Given the description of an element on the screen output the (x, y) to click on. 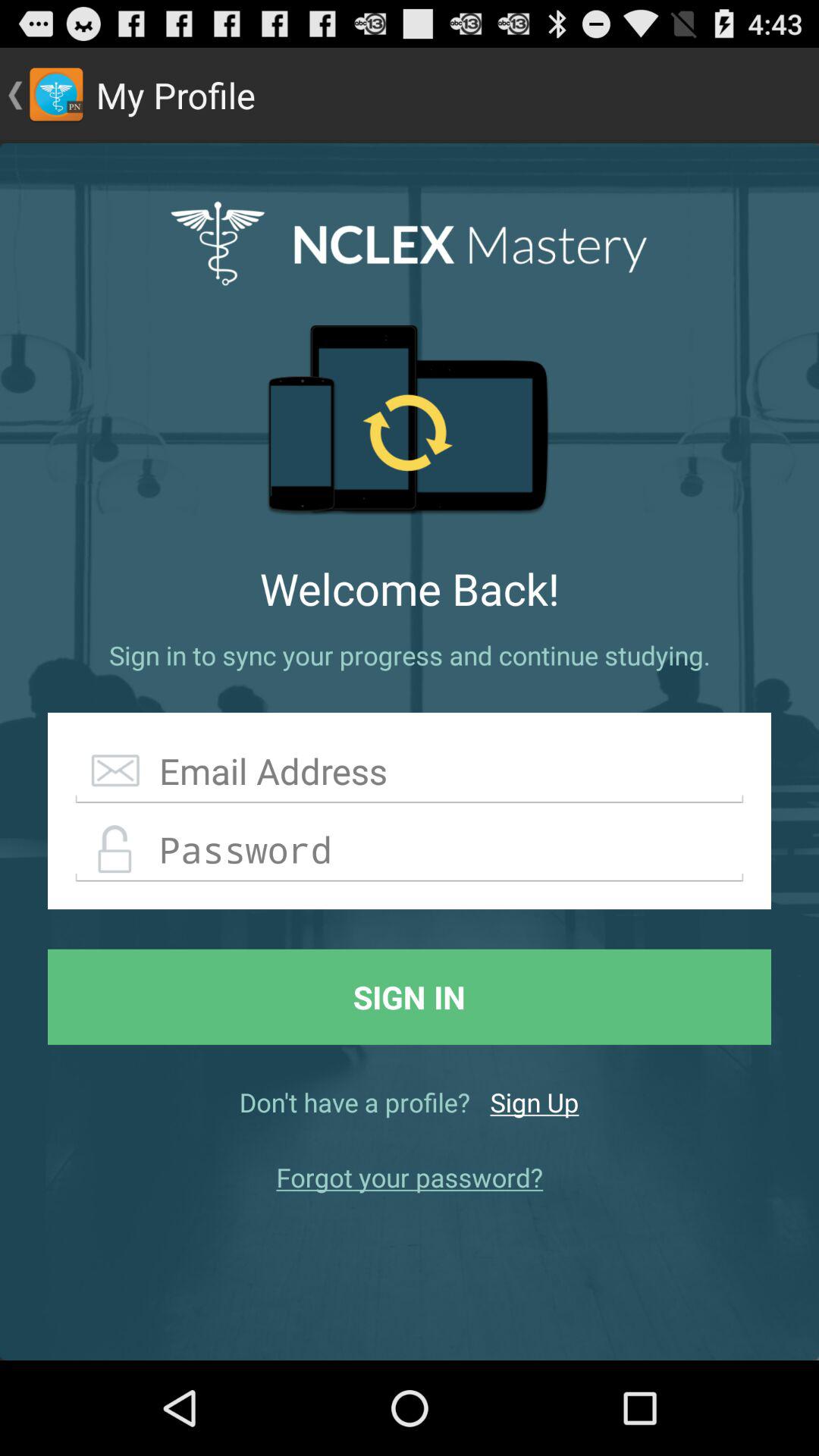
choose item above the forgot your password? item (534, 1101)
